Given the description of an element on the screen output the (x, y) to click on. 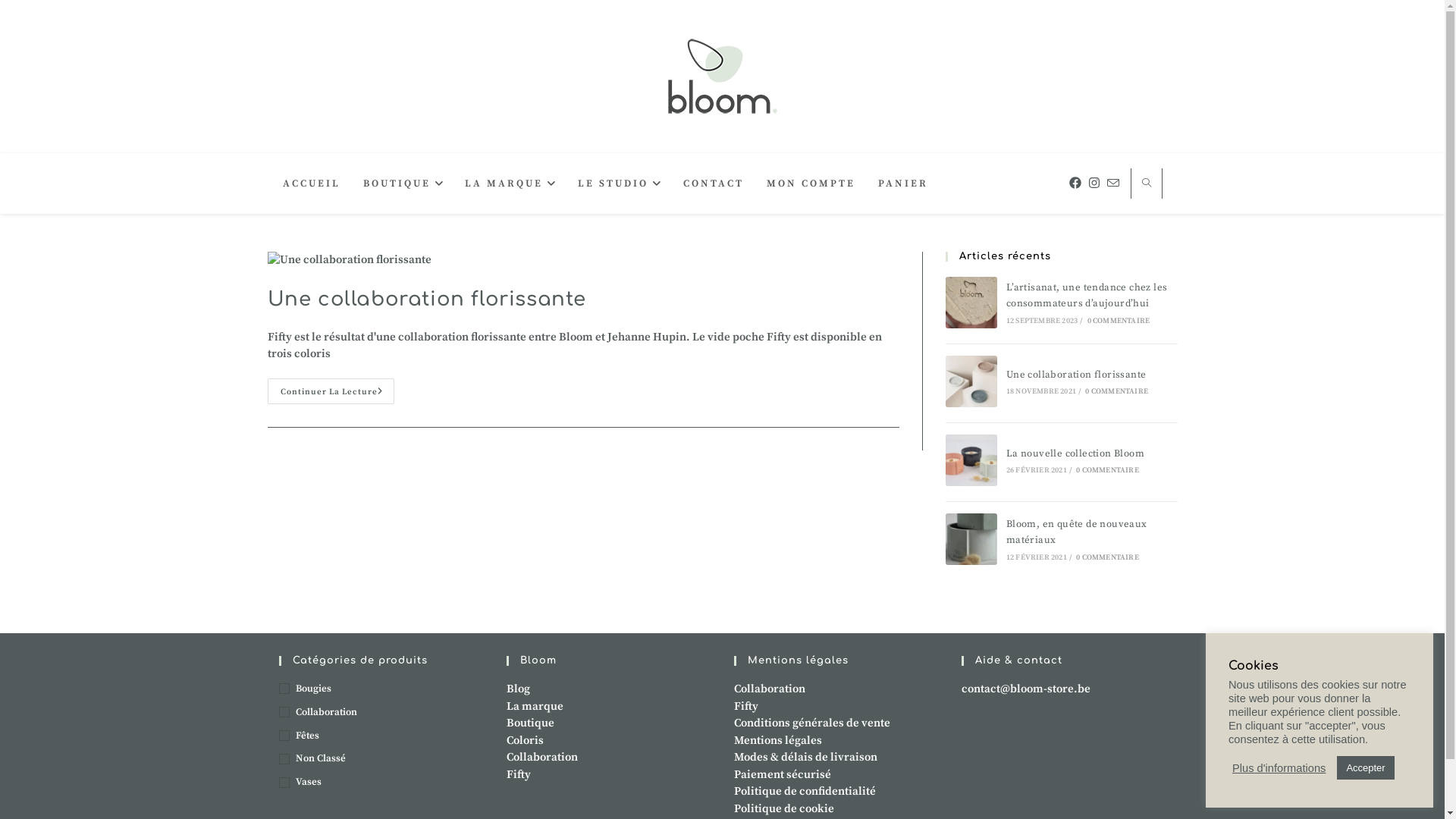
MON COMPTE Element type: text (810, 183)
Collaboration Element type: text (381, 712)
0 COMMENTAIRE Element type: text (1118, 320)
Vases Element type: text (381, 782)
0 COMMENTAIRE Element type: text (1116, 390)
Coloris Element type: text (524, 739)
Fifty Element type: text (746, 706)
0 COMMENTAIRE Element type: text (1107, 556)
Une collaboration florissante Element type: text (425, 299)
0 COMMENTAIRE Element type: text (1107, 469)
CONTACT Element type: text (713, 183)
Continuer La Lecture
Une Collaboration Florissante Element type: text (330, 391)
Collaboration Element type: text (769, 688)
BOUTIQUE Element type: text (402, 183)
contact@bloom-store.be Element type: text (1025, 688)
La nouvelle collection Bloom Element type: text (1075, 453)
Accepter Element type: text (1364, 767)
PANIER Element type: text (902, 183)
Blog Element type: text (518, 688)
Politique de cookie Element type: text (784, 807)
ACCUEIL Element type: text (311, 183)
Fifty Element type: text (518, 774)
Une collaboration florissante Element type: text (1076, 374)
Bougies Element type: text (381, 688)
La nouvelle collection Bloom Element type: hover (970, 460)
Plus d'informations Element type: text (1278, 768)
Collaboration Element type: text (541, 756)
La marque Element type: text (534, 706)
Une collaboration florissante Element type: hover (970, 381)
Boutique Element type: text (530, 722)
LA MARQUE Element type: text (509, 183)
LE STUDIO Element type: text (618, 183)
